Given the description of an element on the screen output the (x, y) to click on. 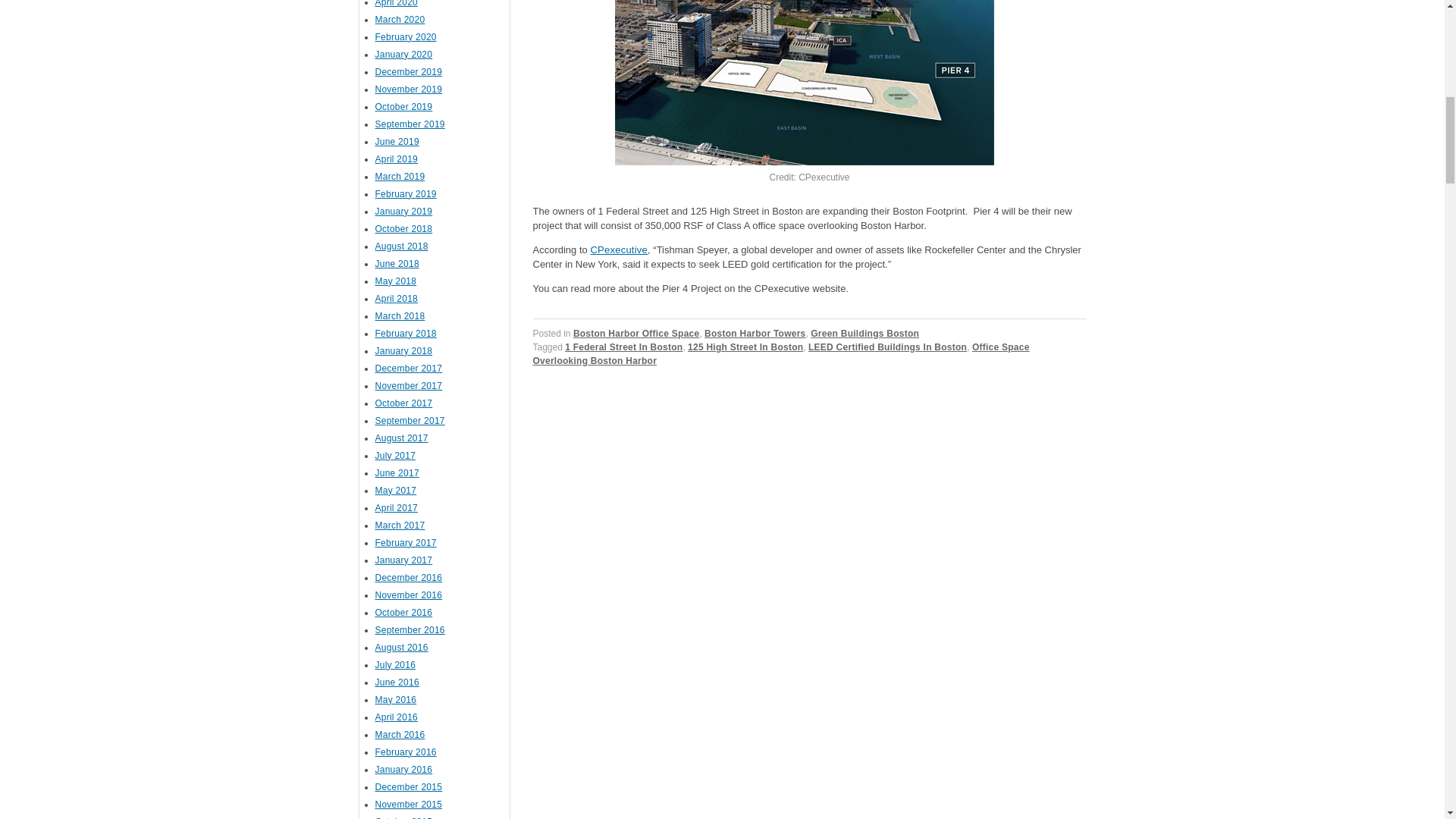
LEED Certified Buildings In Boston (887, 347)
CPexecutive (618, 249)
125 High Street In Boston (745, 347)
1 Federal Street In Boston (623, 347)
Green Buildings Boston (864, 333)
Boston Harbor Office Space (636, 333)
Boston Harbor Towers (754, 333)
